Given the description of an element on the screen output the (x, y) to click on. 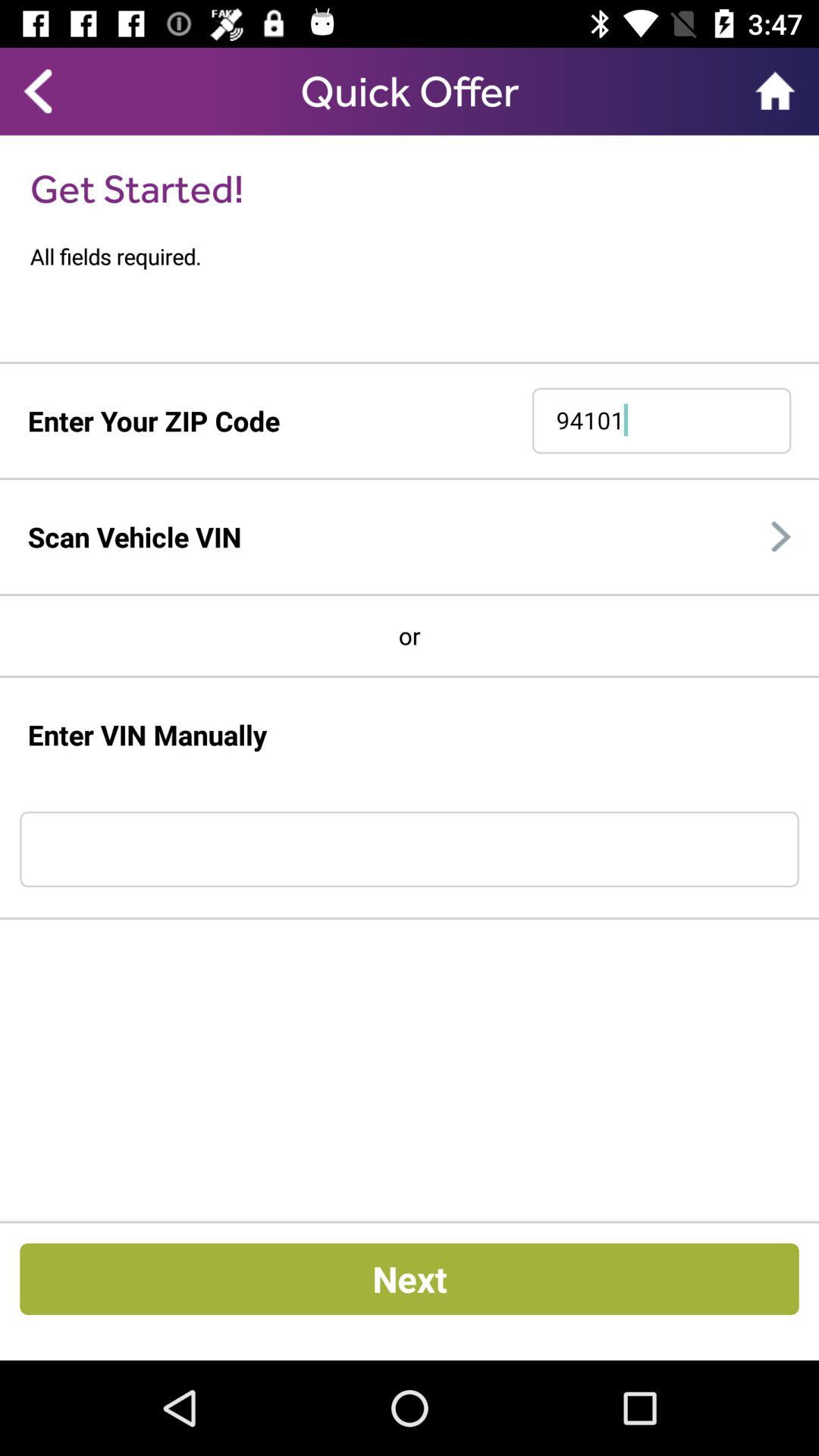
select 94101 item (661, 420)
